Given the description of an element on the screen output the (x, y) to click on. 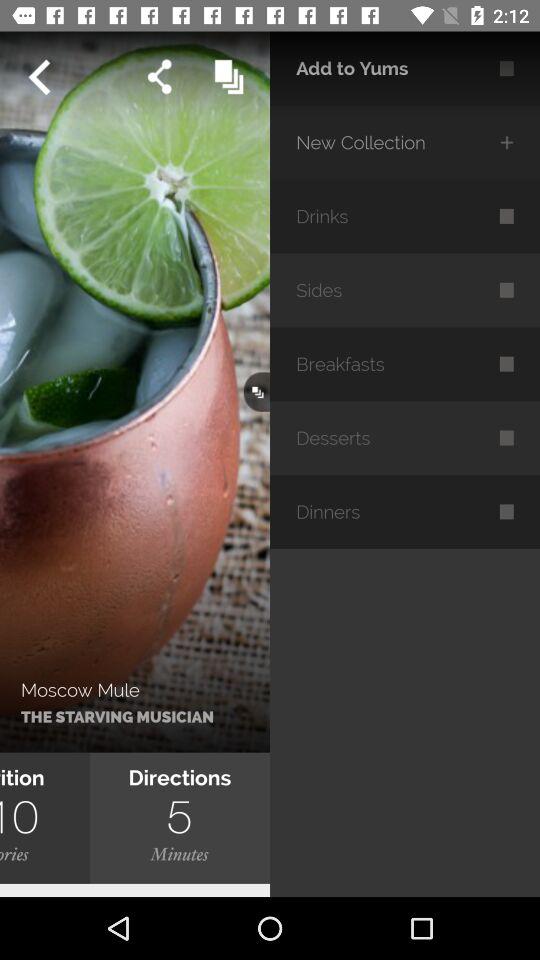
go to previous (39, 77)
